Given the description of an element on the screen output the (x, y) to click on. 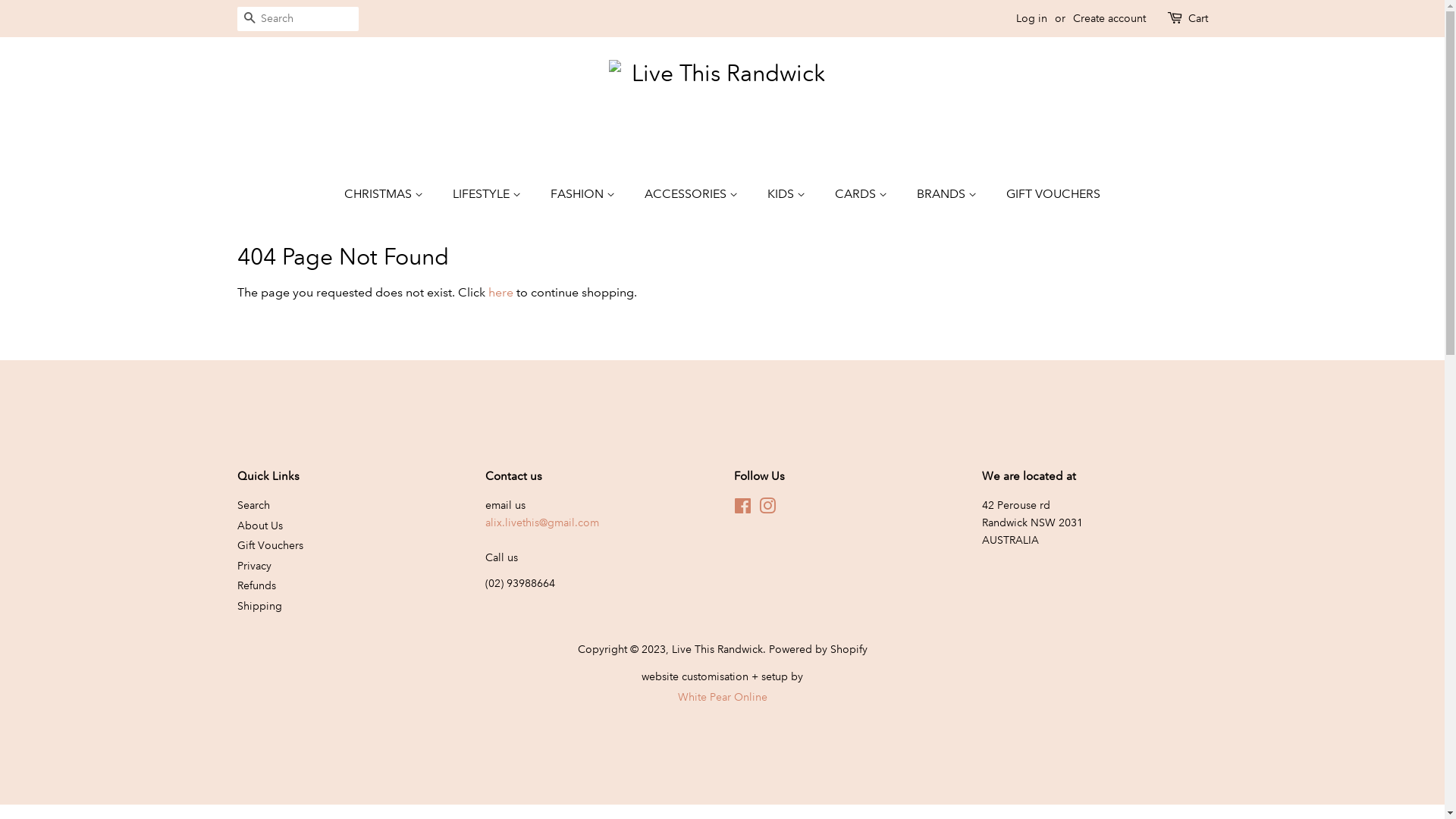
Gift Vouchers Element type: text (269, 545)
Cart Element type: text (1197, 18)
FASHION Element type: text (584, 193)
Refunds Element type: text (255, 585)
Instagram Element type: text (766, 508)
Search Element type: text (248, 18)
About Us Element type: text (259, 525)
Live This Randwick Element type: text (716, 648)
Log in Element type: text (1031, 18)
White Pear Online Element type: text (722, 696)
LIFESTYLE Element type: text (488, 193)
BRANDS Element type: text (948, 193)
ACCESSORIES Element type: text (693, 193)
alix.livethis@gmail.com Element type: text (542, 522)
KIDS Element type: text (788, 193)
CARDS Element type: text (862, 193)
GIFT VOUCHERS Element type: text (1047, 193)
Facebook Element type: text (742, 508)
Shipping Element type: text (258, 605)
Powered by Shopify Element type: text (817, 648)
CHRISTMAS Element type: text (391, 193)
Search Element type: text (252, 504)
Create account Element type: text (1108, 18)
Privacy Element type: text (253, 565)
here Element type: text (500, 292)
